Given the description of an element on the screen output the (x, y) to click on. 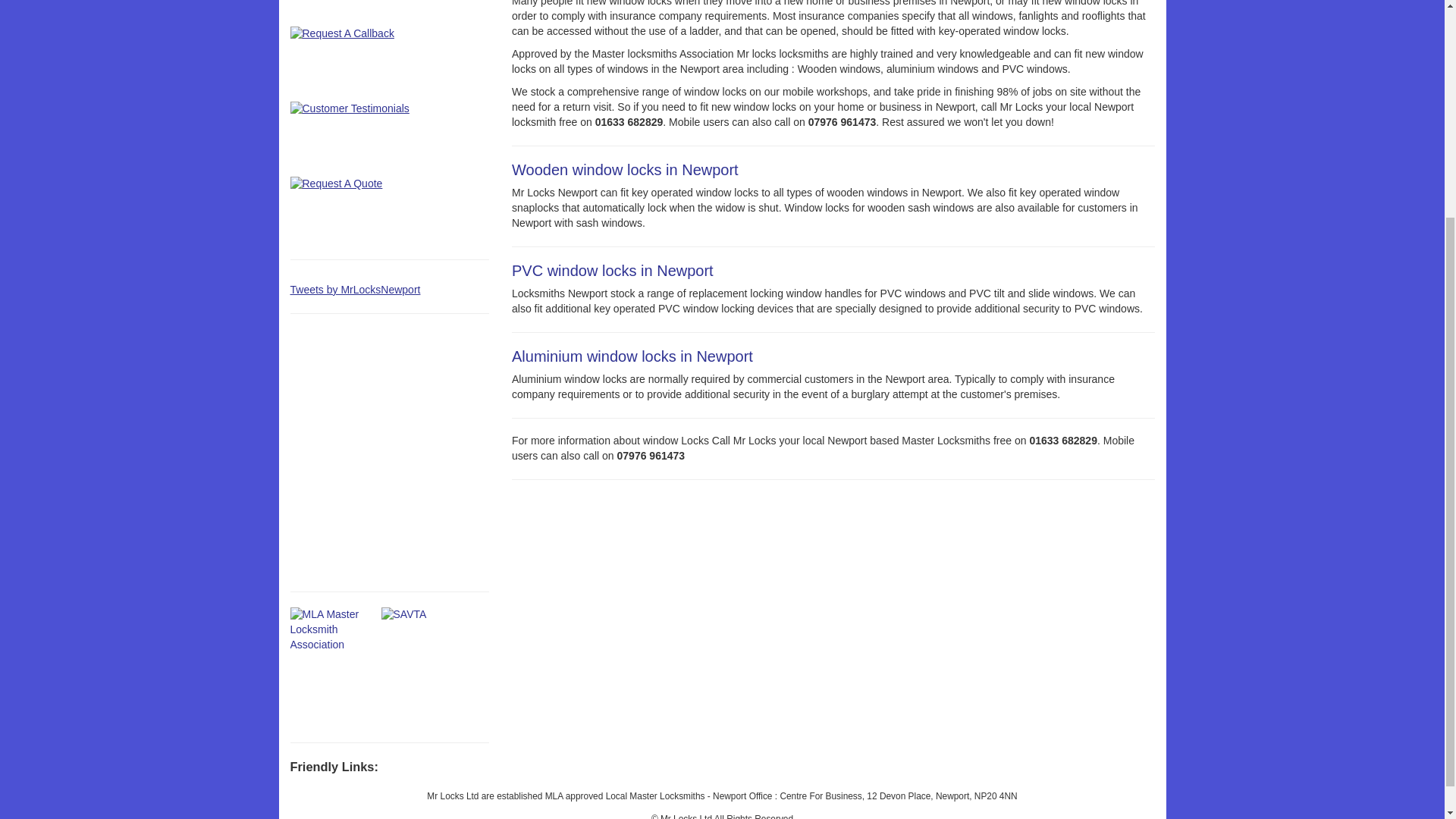
Consumer Tips to help choose a Locksmith (365, 9)
Request a Quote from Mr Locks Ltd (365, 210)
Reviews Testimonials Mr Locks Ltd (365, 134)
Request a Callback from Mr Locks Ltd (365, 60)
